Given the description of an element on the screen output the (x, y) to click on. 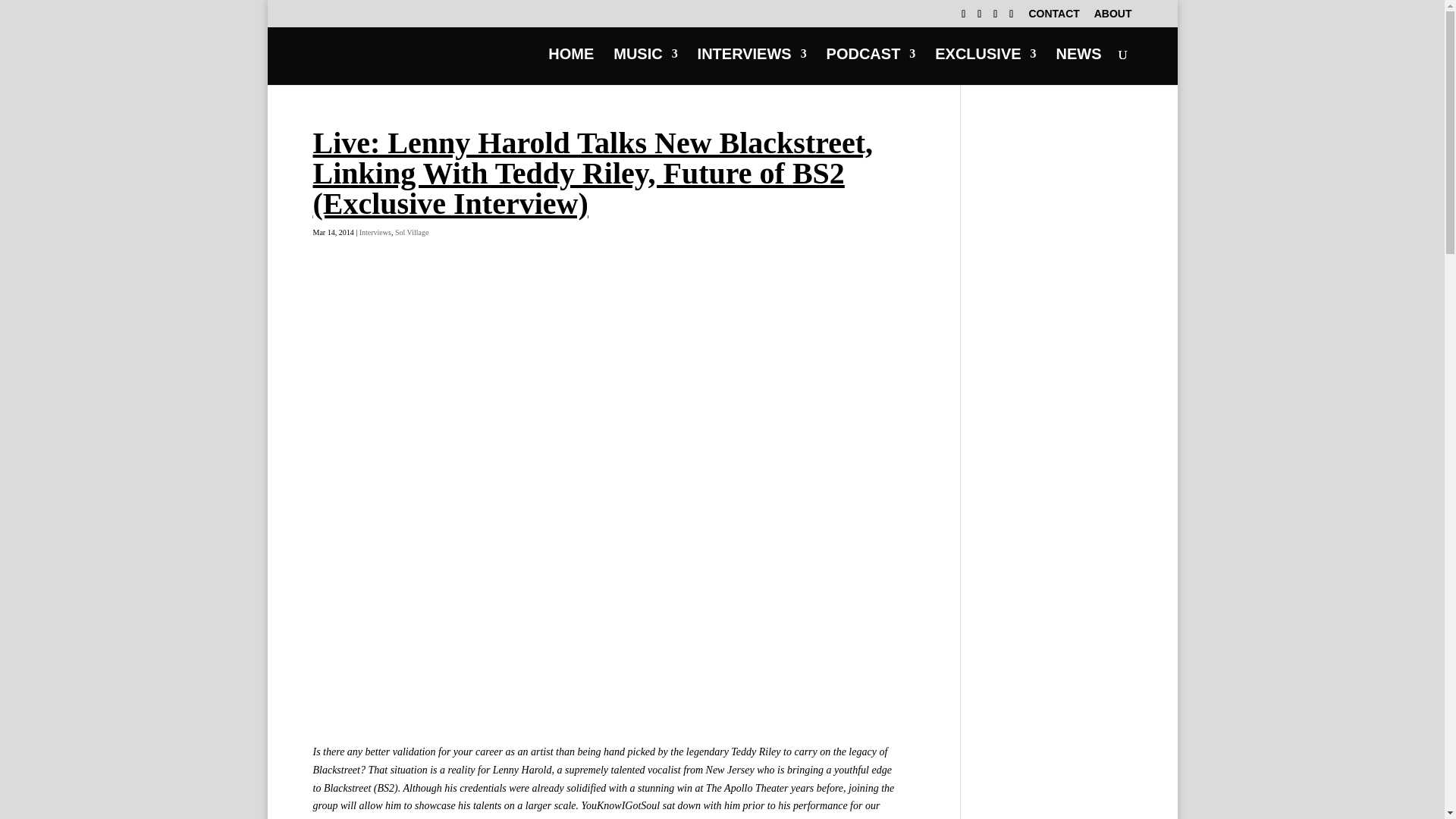
EXCLUSIVE (984, 66)
HOME (571, 66)
MUSIC (644, 66)
CONTACT (1052, 16)
ABOUT (1113, 16)
Sol Village (411, 232)
INTERVIEWS (751, 66)
PODCAST (871, 66)
NEWS (1077, 66)
Interviews (375, 232)
